Given the description of an element on the screen output the (x, y) to click on. 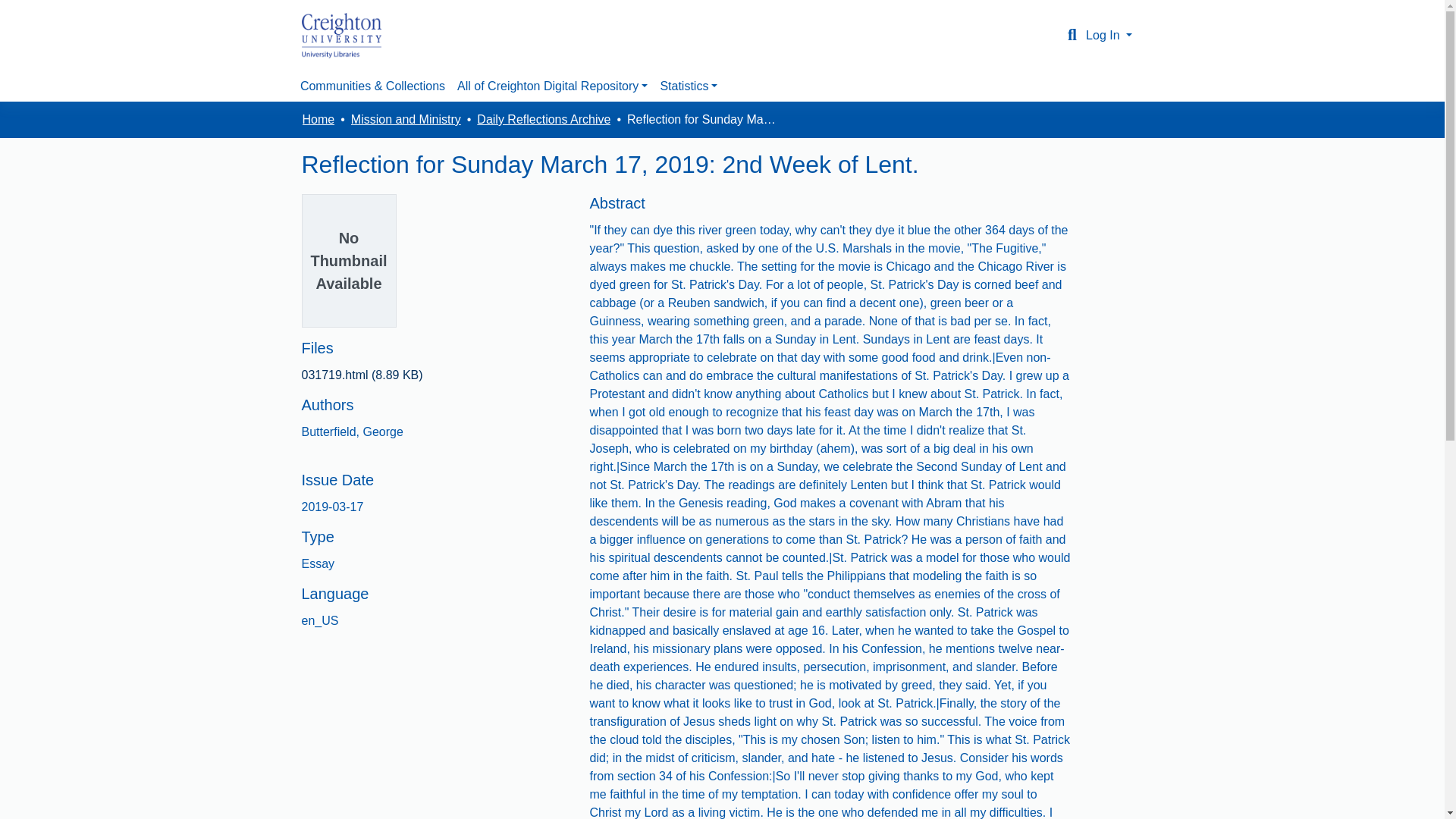
Home (317, 119)
All of Creighton Digital Repository (552, 86)
Mission and Ministry (405, 119)
Daily Reflections Archive (543, 119)
Search (1072, 35)
Log In (1108, 34)
Statistics (688, 86)
